Given the description of an element on the screen output the (x, y) to click on. 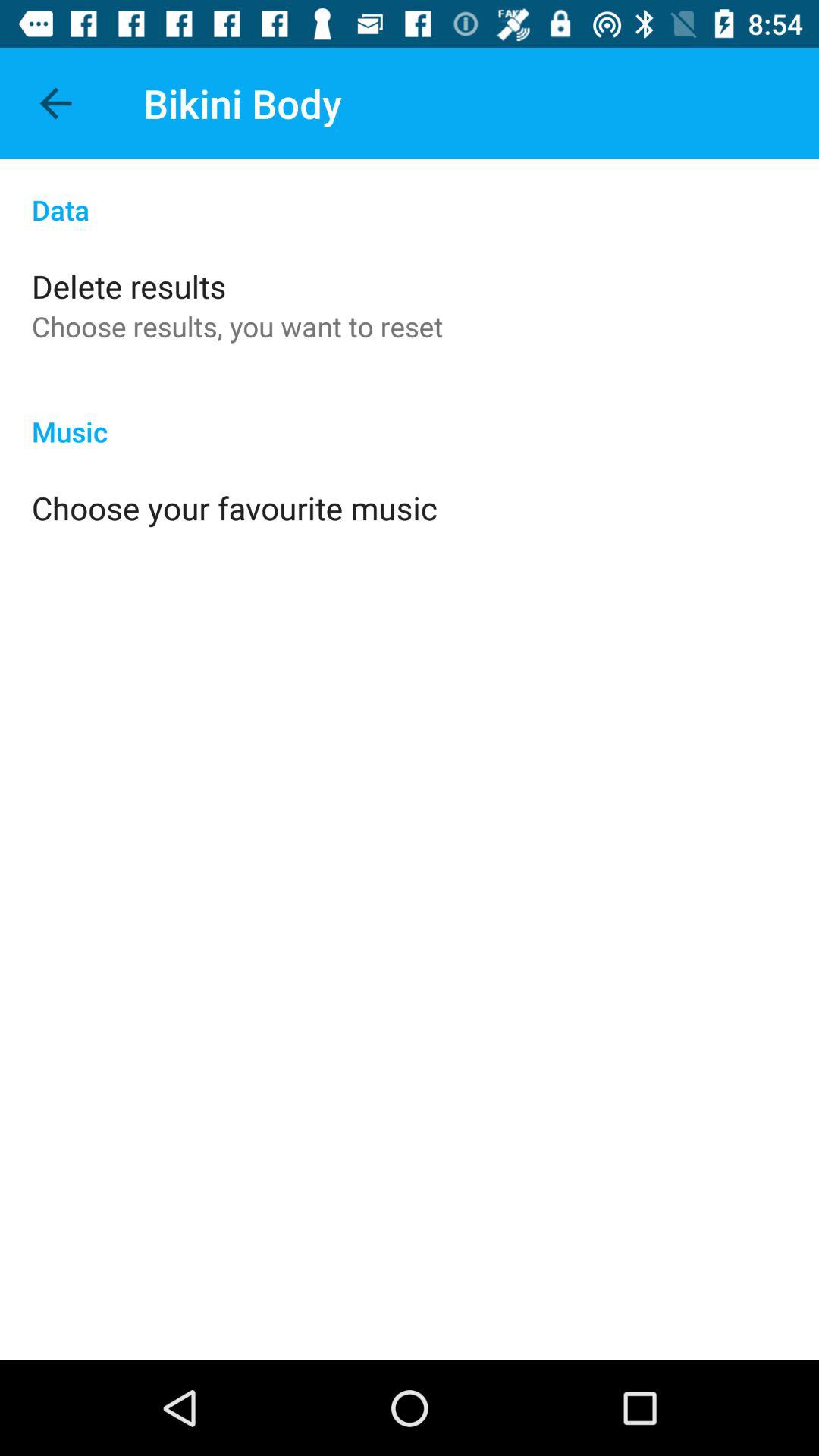
jump to data app (409, 193)
